Given the description of an element on the screen output the (x, y) to click on. 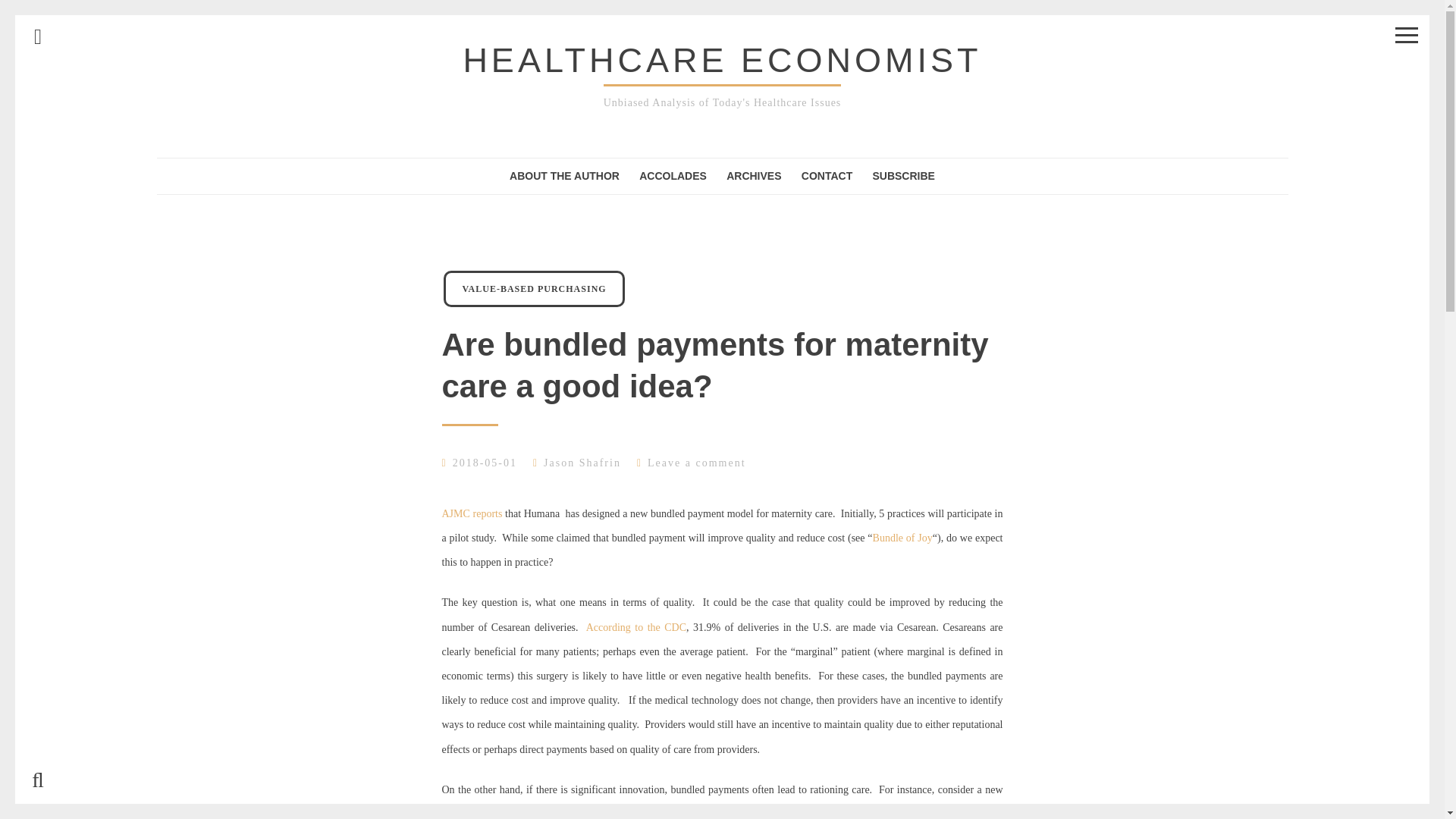
SUBSCRIBE (903, 175)
ACCOLADES (672, 175)
ARCHIVES (753, 175)
CONTACT (827, 175)
Jason Shafrin (582, 462)
AJMC reports (471, 513)
According to the CDC (635, 627)
Bundle of Joy (902, 537)
Leave a comment (696, 462)
HEALTHCARE ECONOMIST (722, 59)
ABOUT THE AUTHOR (563, 175)
2018-05-01 (484, 462)
VALUE-BASED PURCHASING (534, 289)
